Given the description of an element on the screen output the (x, y) to click on. 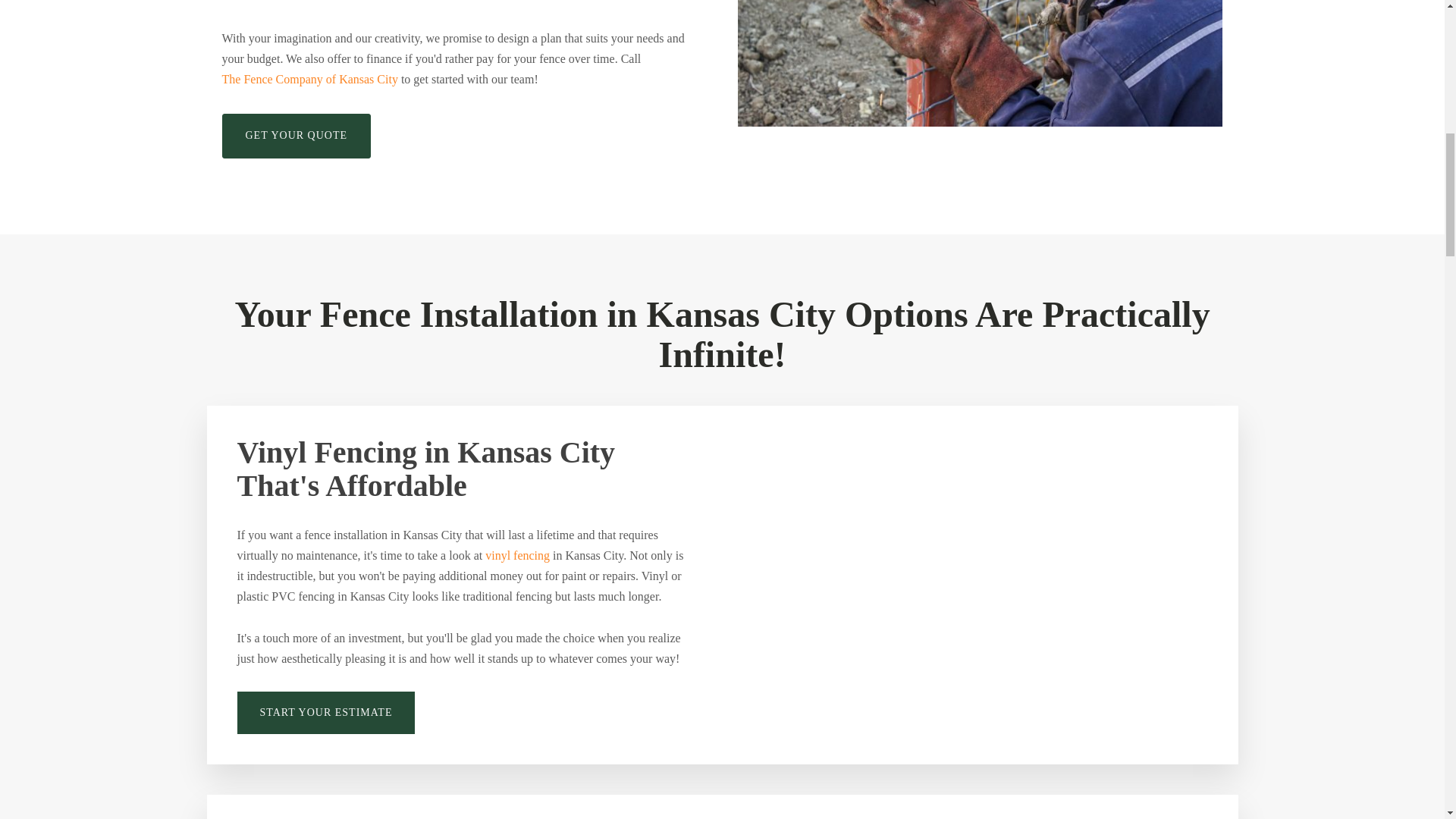
START YOUR ESTIMATE (324, 712)
vinyl fencing (517, 555)
The Fence Company of Kansas City (309, 78)
GET YOUR QUOTE (296, 135)
